Given the description of an element on the screen output the (x, y) to click on. 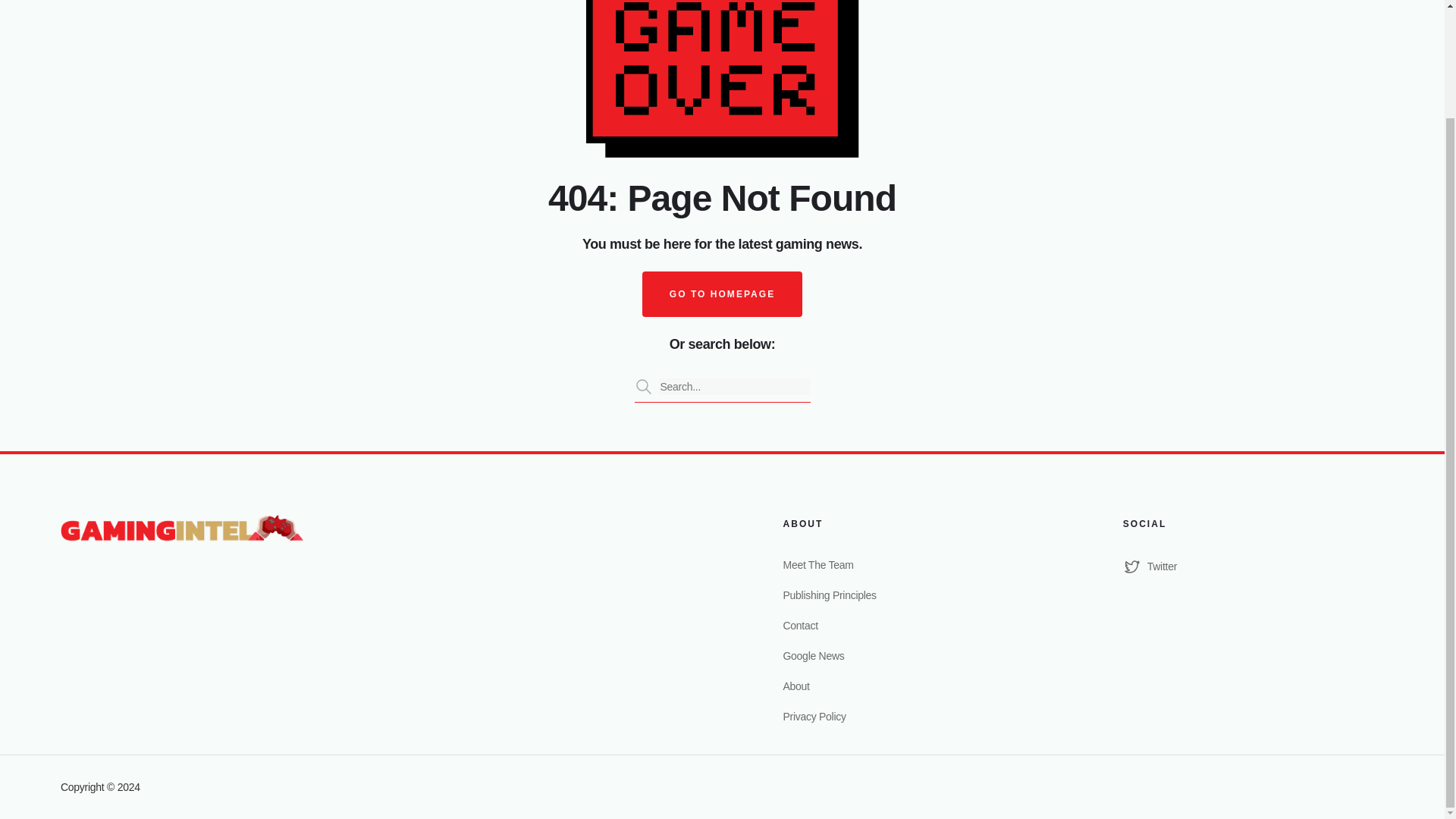
Google News (913, 655)
Twitter (1253, 566)
GO TO HOMEPAGE (722, 293)
Publishing Principles (913, 595)
About (913, 685)
Contact (913, 625)
Meet The Team (913, 564)
Privacy Policy (913, 716)
